Given the description of an element on the screen output the (x, y) to click on. 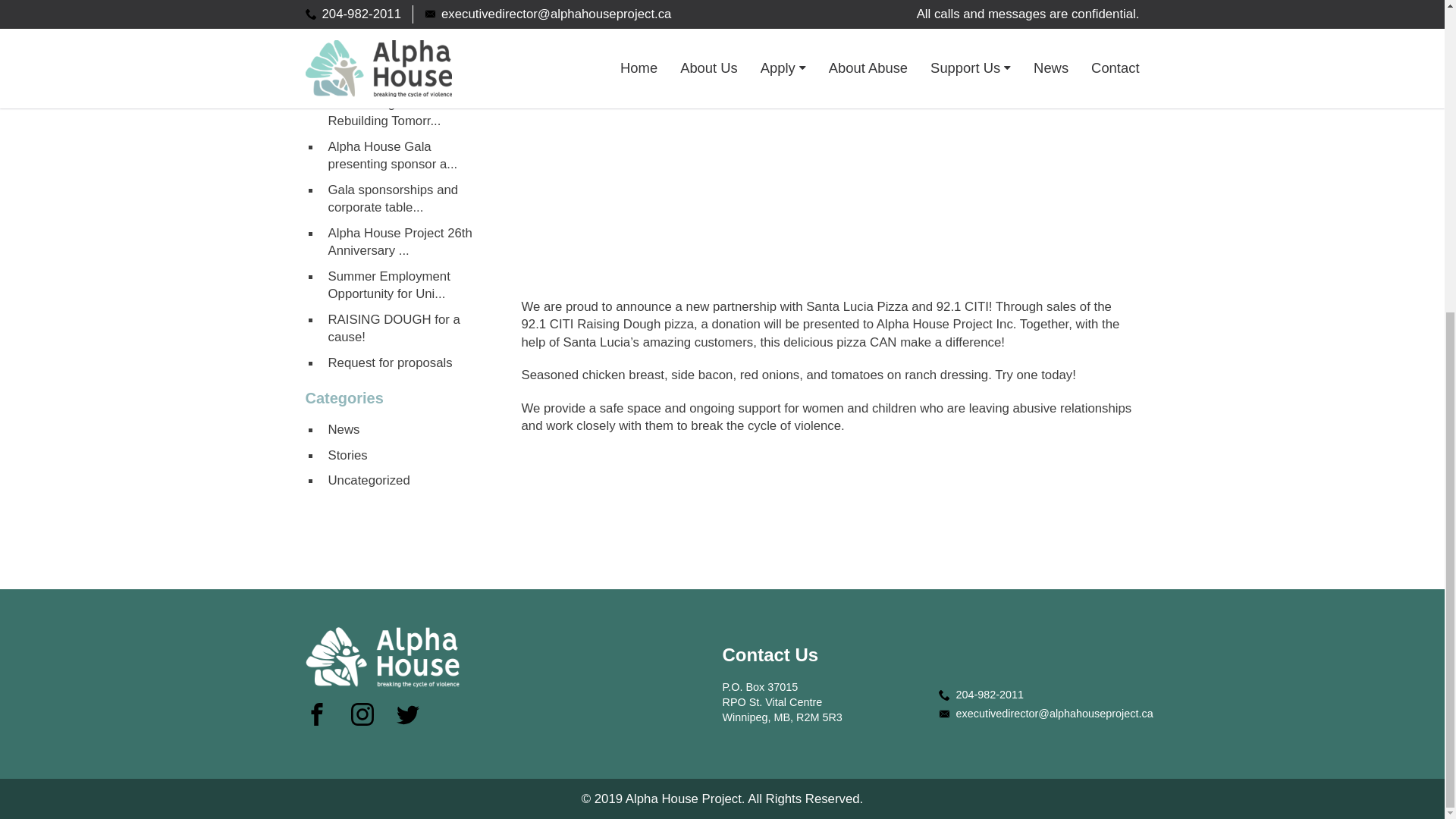
204-982-2011 (1046, 694)
Stories (405, 455)
RAISING DOUGH for a cause! (405, 328)
New Quarterly Newsletter (405, 27)
News (405, 429)
Alpha House Gala presenting sponsor a... (405, 155)
Gala sponsorships and corporate table... (405, 198)
2023 Fund Raising Gala (405, 77)
Request for proposals (405, 362)
2024 Fundraising Gala (405, 53)
